Given the description of an element on the screen output the (x, y) to click on. 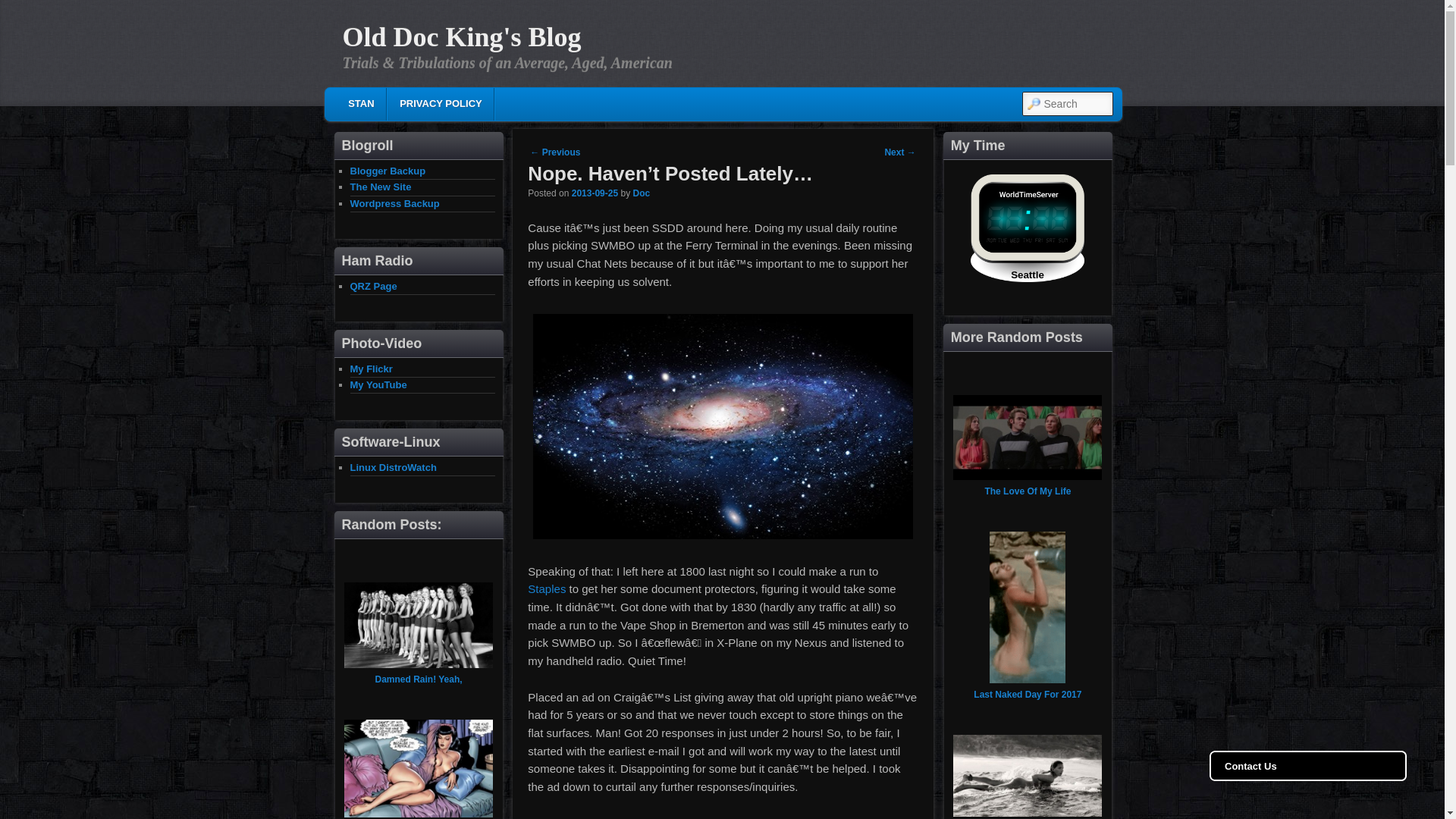
QRZ Page (373, 285)
View all posts by Doc (640, 193)
Staples (546, 588)
SKIP TO SECONDARY CONTENT (445, 106)
Old Doc King's Blog (461, 37)
1938 (594, 193)
Wordpress Backup (394, 203)
Skip to primary content (435, 106)
Linux DistroWatch (393, 467)
STAN (360, 103)
Search (24, 8)
Damned Rain! Yeah, (417, 679)
SKIP TO PRIMARY CONTENT (435, 106)
How Can Anyone Believe We're The Only Life To Exist? (723, 425)
PRIVACY POLICY (440, 103)
